Given the description of an element on the screen output the (x, y) to click on. 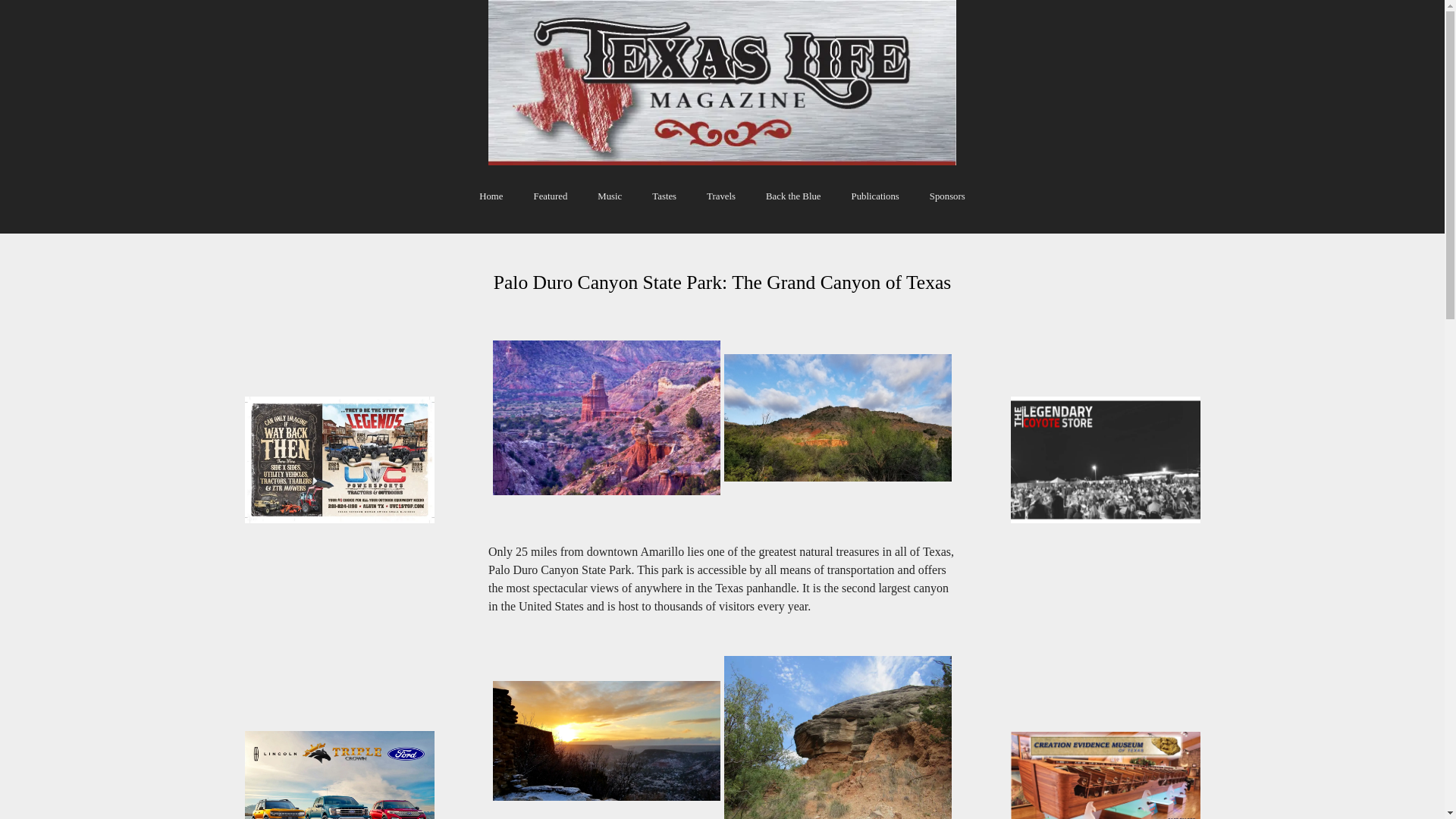
Featured (550, 203)
Sponsors (947, 203)
Publications (875, 203)
Music (609, 203)
Home (490, 203)
Tastes (663, 203)
Travels (720, 203)
Back the Blue (793, 203)
